Given the description of an element on the screen output the (x, y) to click on. 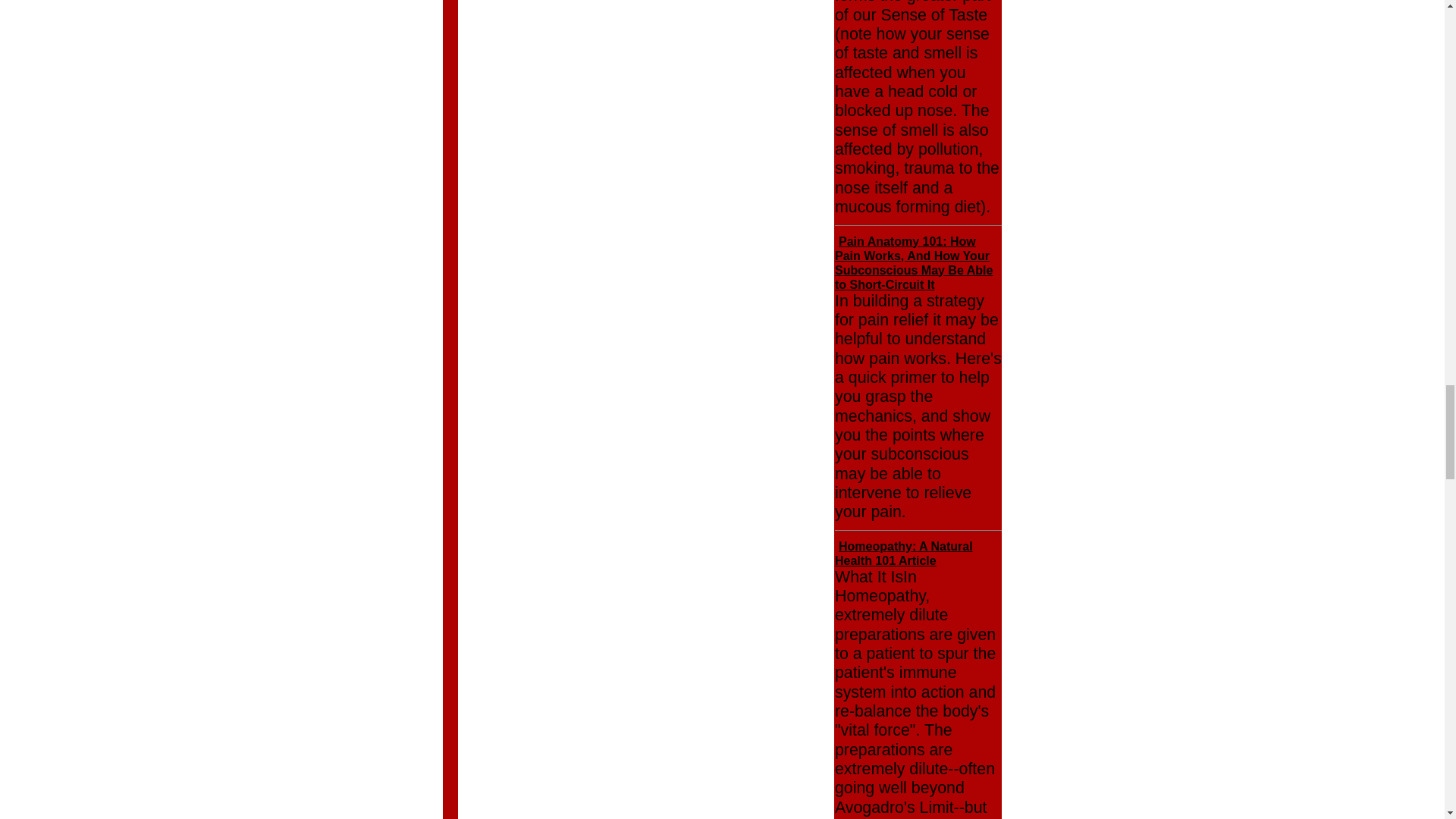
Homeopathy: A Natural Health 101 Article (903, 553)
